Given the description of an element on the screen output the (x, y) to click on. 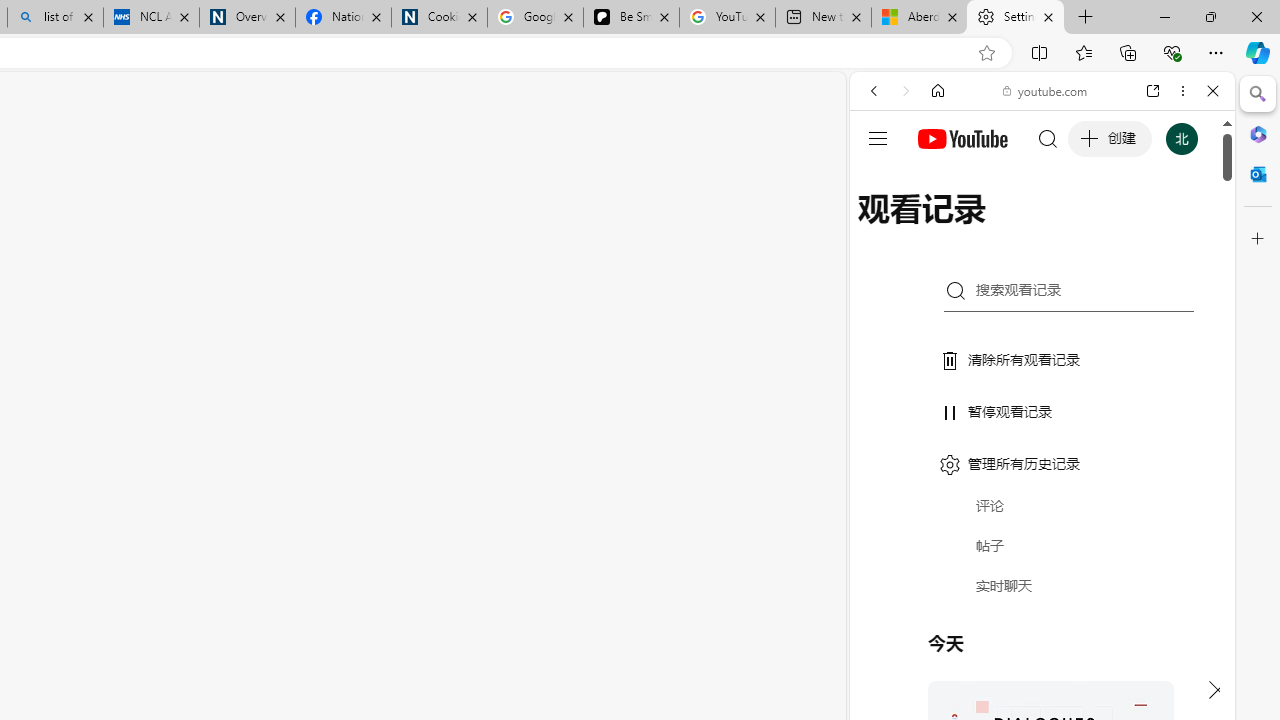
Search videos from youtube.com (1005, 657)
